Given the description of an element on the screen output the (x, y) to click on. 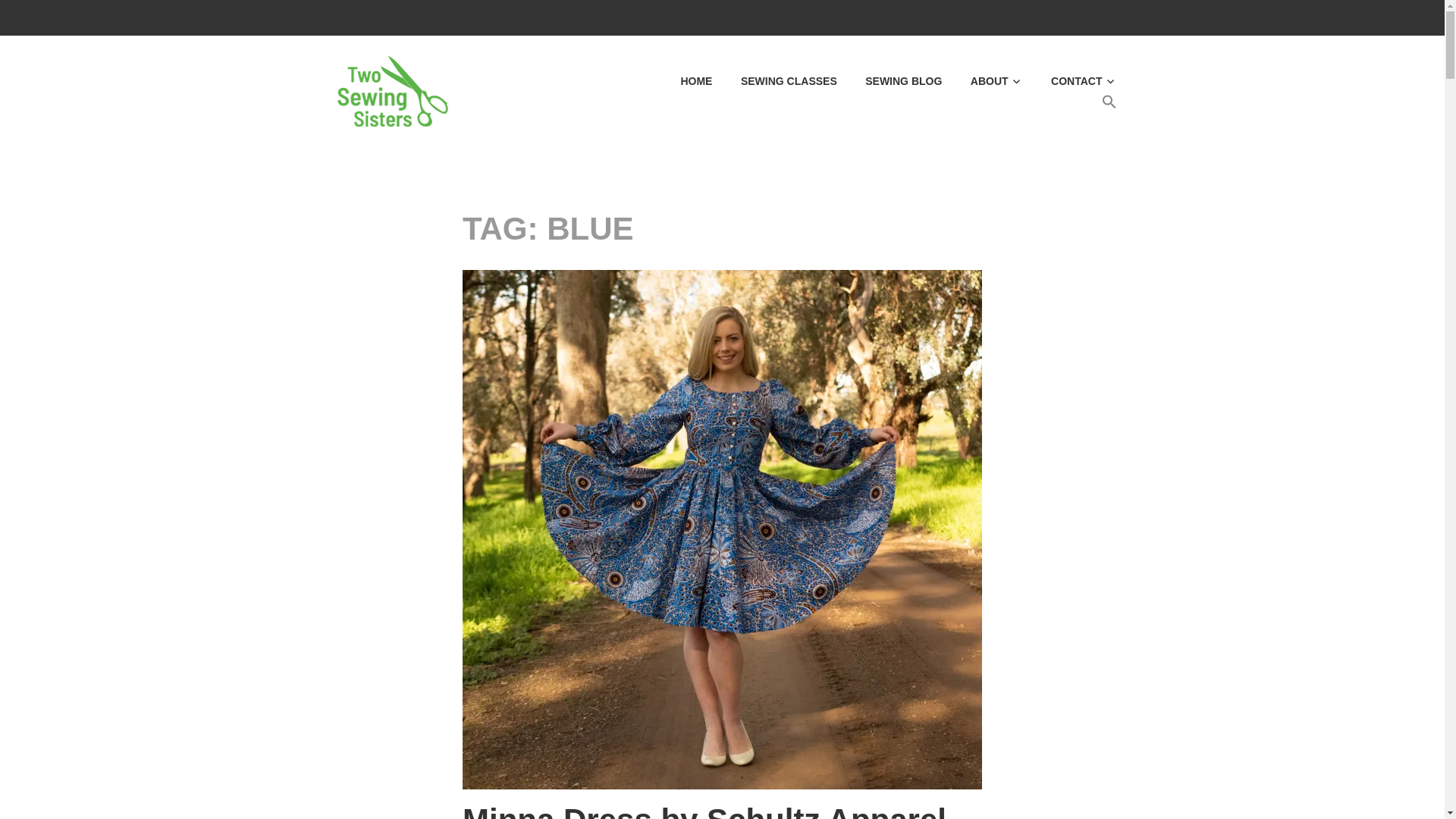
FACEBOOK (1048, 16)
CONTACT (1070, 81)
SEWING CLASSES (774, 81)
HOME (684, 81)
TWO SEWING SISTERS (639, 69)
YOUTUBE (1077, 16)
PINTEREST (1018, 16)
INSTAGRAM (988, 16)
LINKEDIN (1106, 16)
SEWING BLOG (891, 81)
ABOUT (983, 81)
Minna Dress by Schultz Apparel (704, 810)
